Given the description of an element on the screen output the (x, y) to click on. 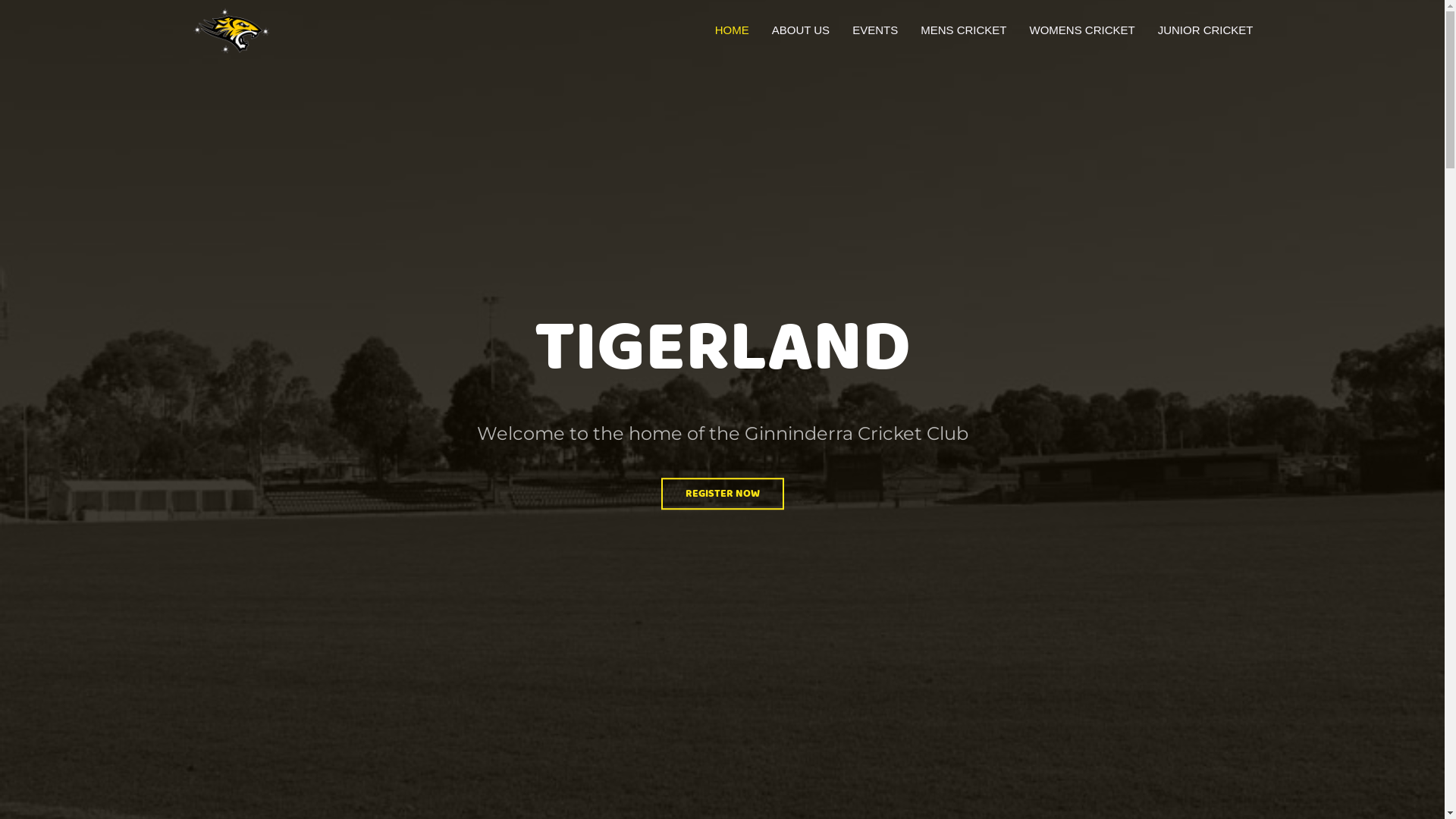
MENS CRICKET Element type: text (963, 30)
EVENTS Element type: text (874, 30)
ABOUT US Element type: text (800, 30)
JUNIOR CRICKET Element type: text (1205, 30)
HOME Element type: text (731, 30)
REGISTER NOW Element type: text (722, 493)
WOMENS CRICKET Element type: text (1081, 30)
